Given the description of an element on the screen output the (x, y) to click on. 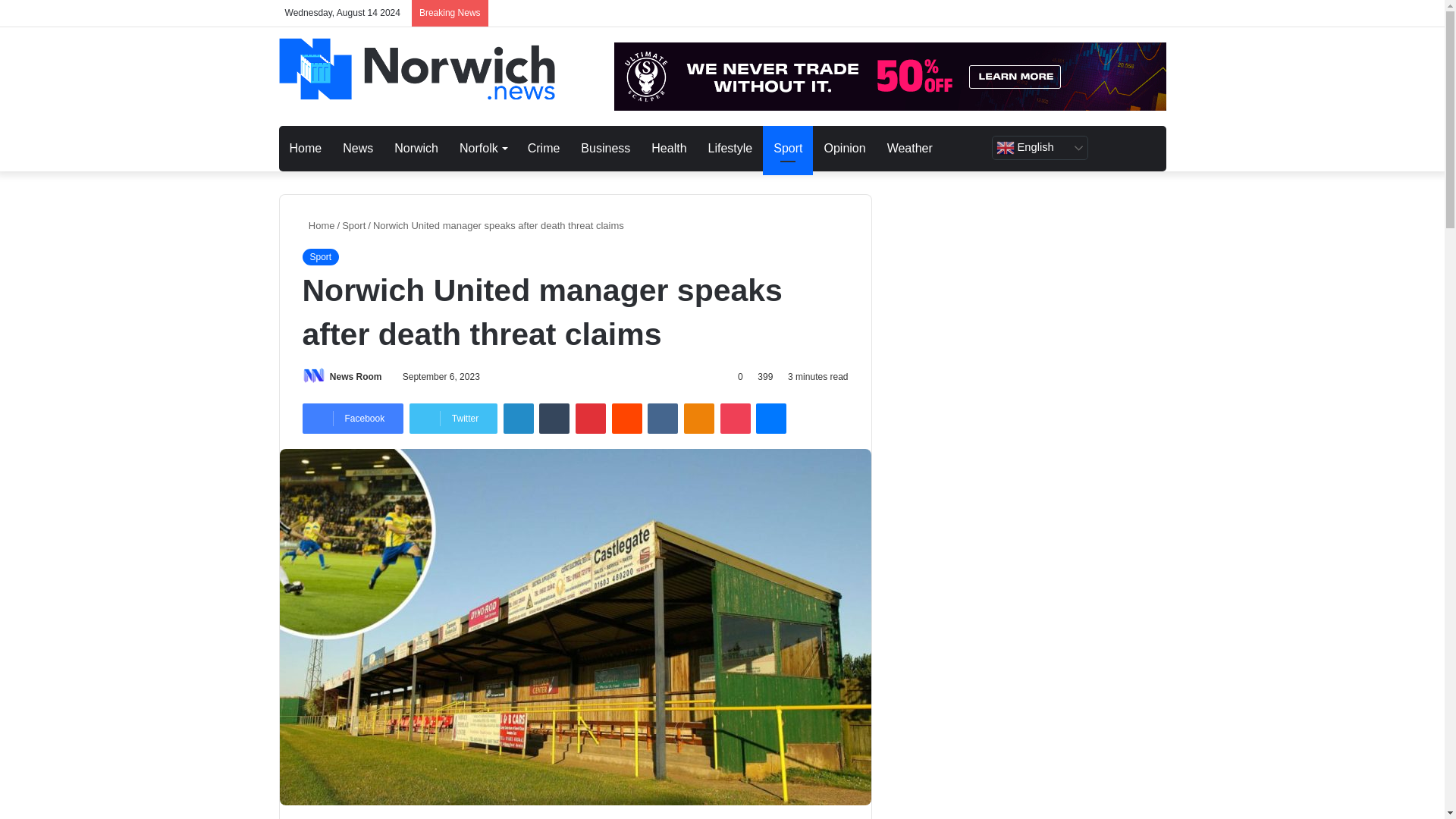
Weather (909, 148)
Health (668, 148)
Business (605, 148)
Norwich News (416, 69)
Lifestyle (729, 148)
Home (306, 148)
Norfolk (482, 148)
Opinion (844, 148)
News (357, 148)
Crime (543, 148)
